Given the description of an element on the screen output the (x, y) to click on. 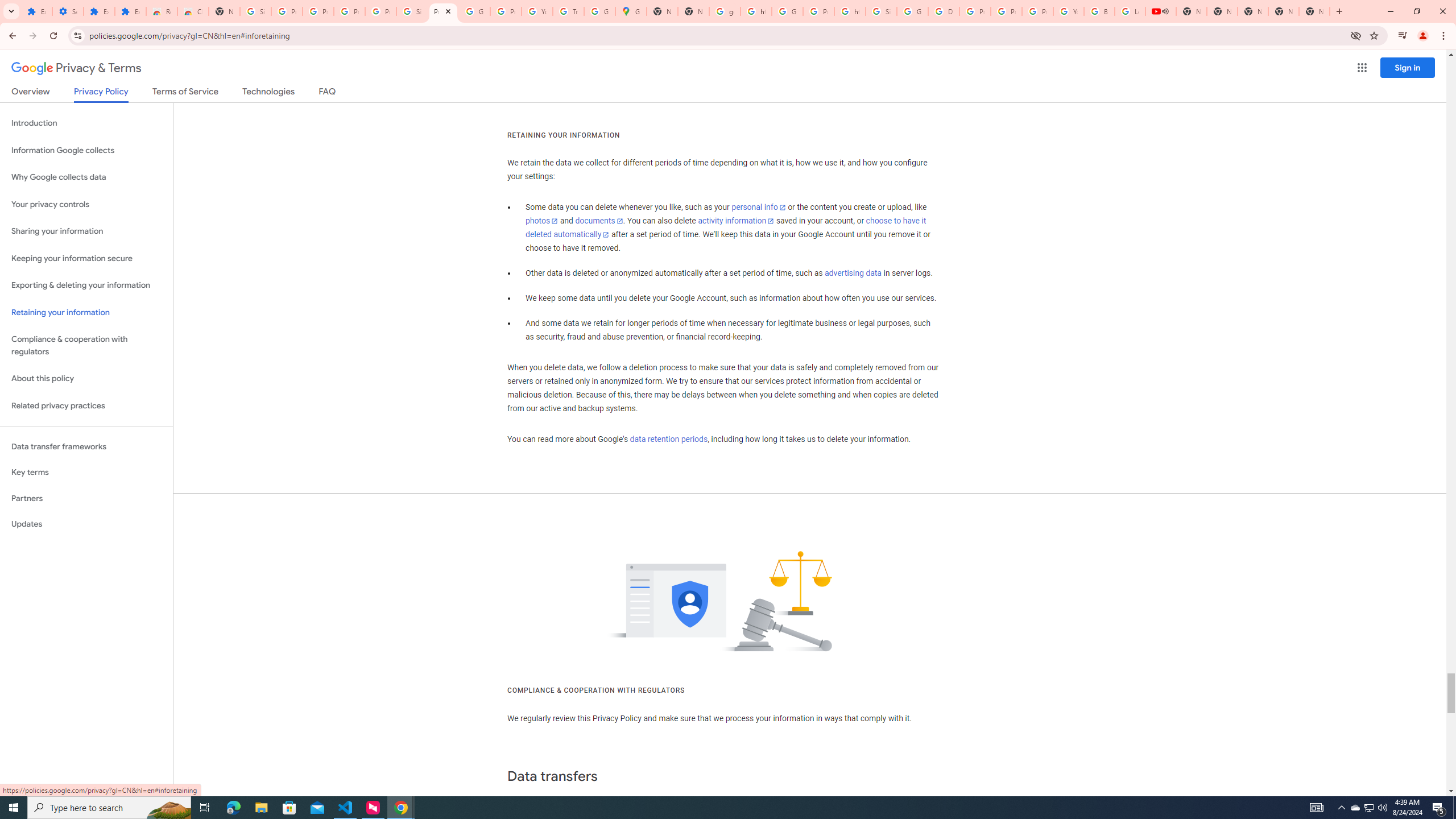
Exporting & deleting your information (86, 284)
Why Google collects data (86, 176)
https://scholar.google.com/ (849, 11)
Sign in - Google Accounts (255, 11)
activity information (735, 221)
Introduction (86, 122)
YouTube (1068, 11)
